Given the description of an element on the screen output the (x, y) to click on. 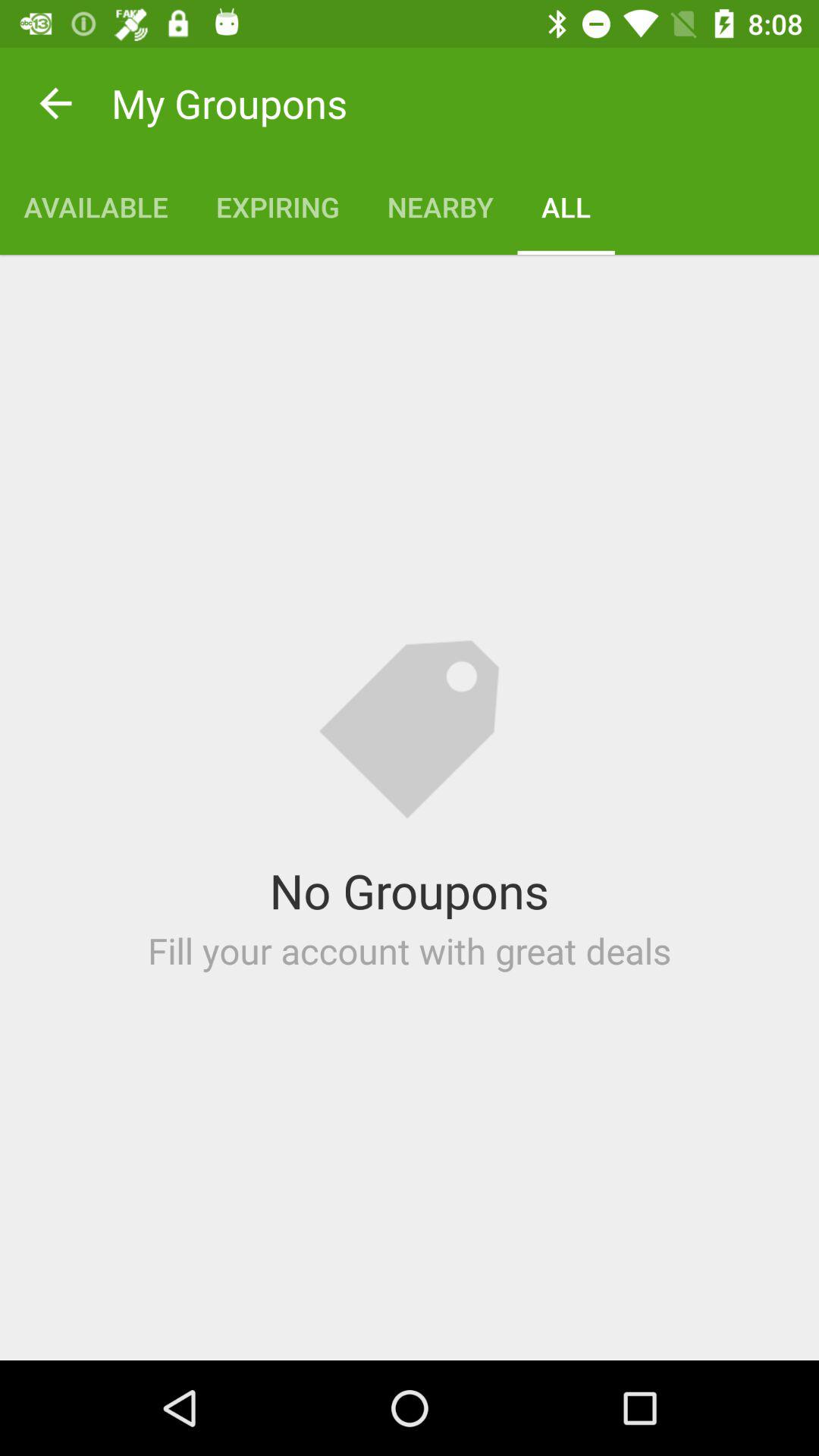
jump until the all item (565, 206)
